Given the description of an element on the screen output the (x, y) to click on. 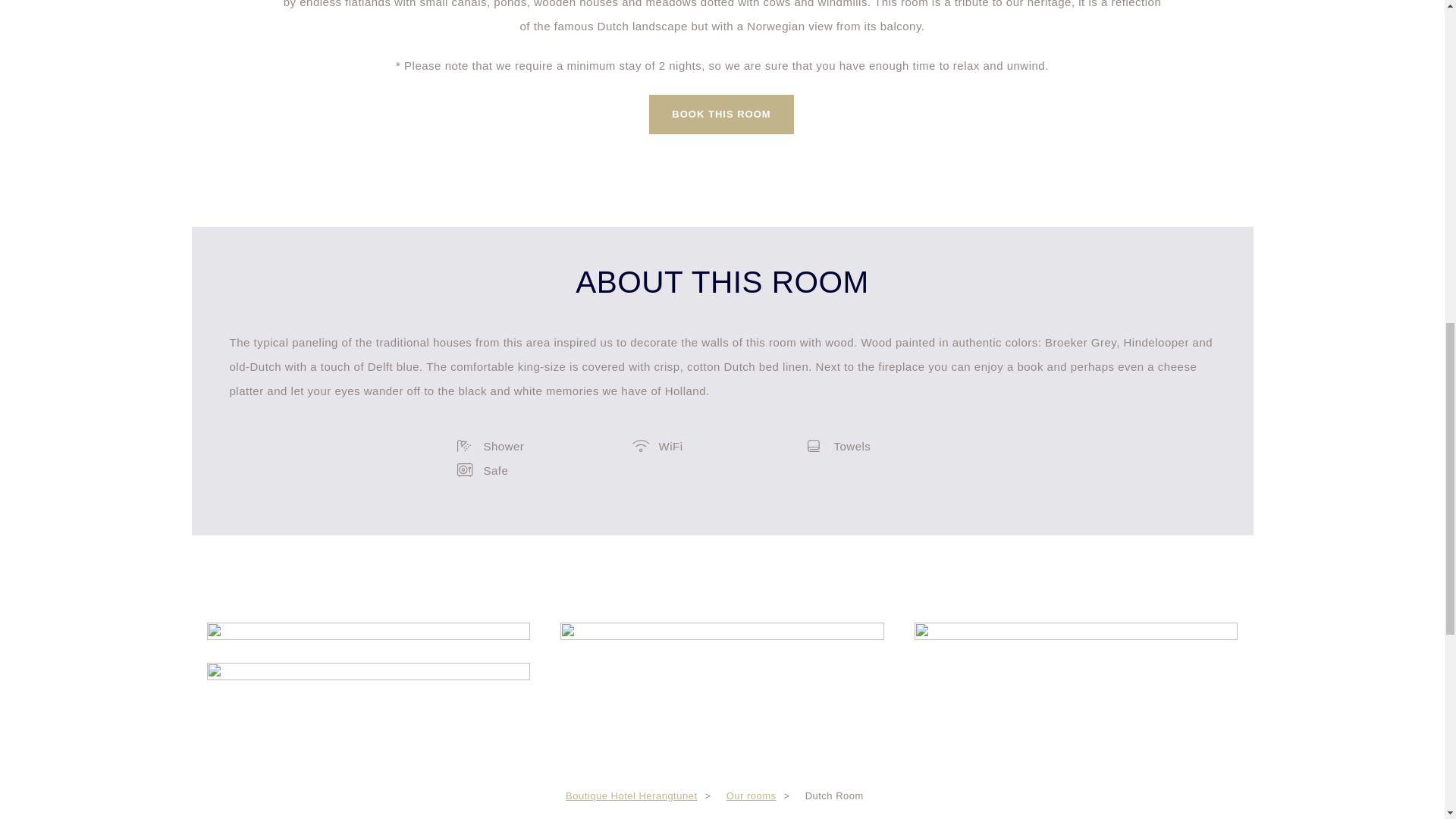
BOOK THIS ROOM (721, 114)
Our rooms (751, 795)
Boutique Hotel Herangtunet (631, 795)
